Given the description of an element on the screen output the (x, y) to click on. 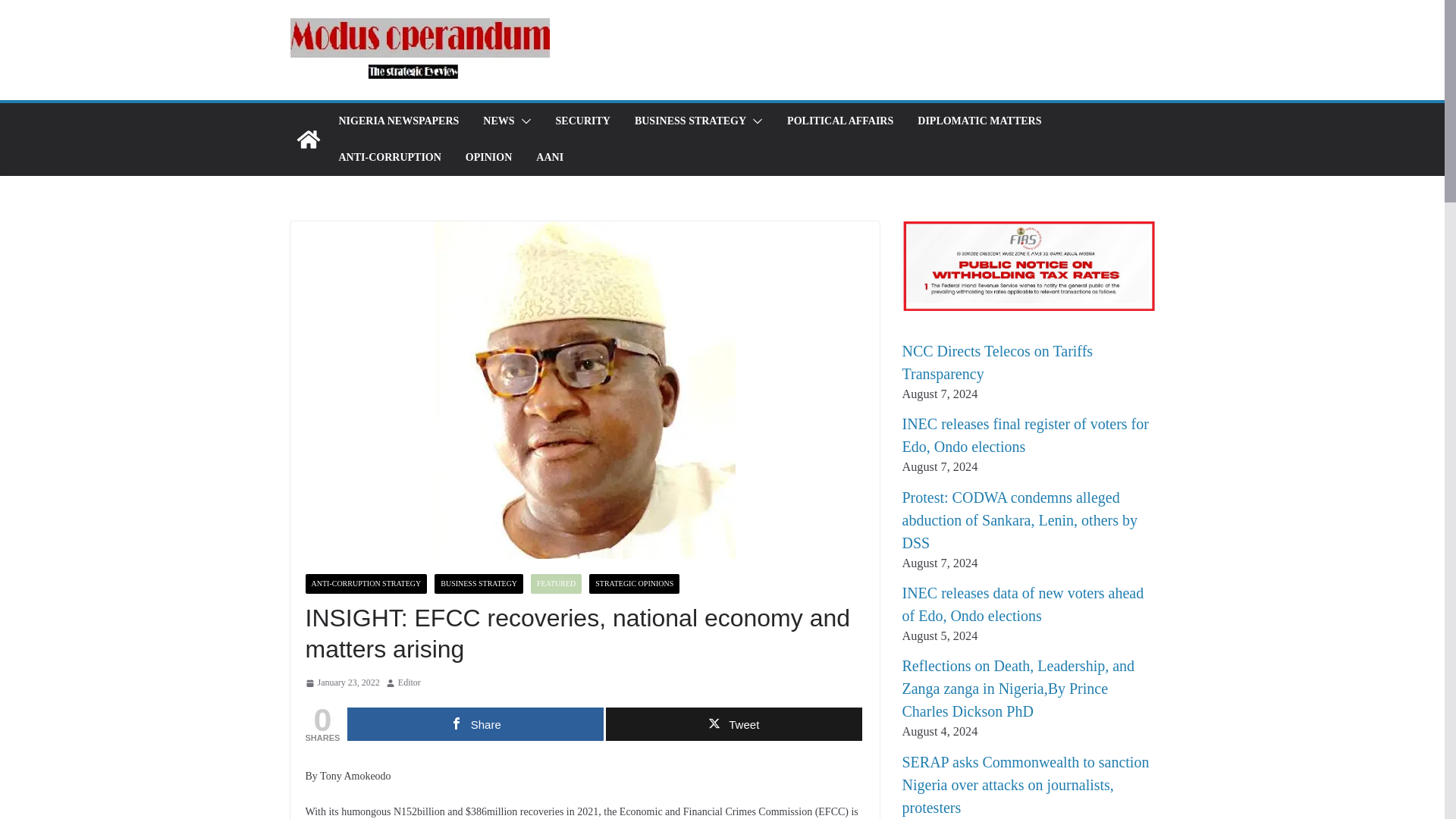
Editor (408, 682)
SECURITY (583, 120)
BUSINESS STRATEGY (689, 120)
STRATEGIC OPINIONS (634, 583)
Share (475, 724)
ANTI-CORRUPTION (389, 157)
Editor (408, 682)
OPINION (488, 157)
ANTI-CORRUPTION STRATEGY (365, 583)
11:19 pm (341, 682)
Modus Operandum (307, 139)
January 23, 2022 (341, 682)
BUSINESS STRATEGY (477, 583)
AANI (549, 157)
FEATURED (555, 583)
